Given the description of an element on the screen output the (x, y) to click on. 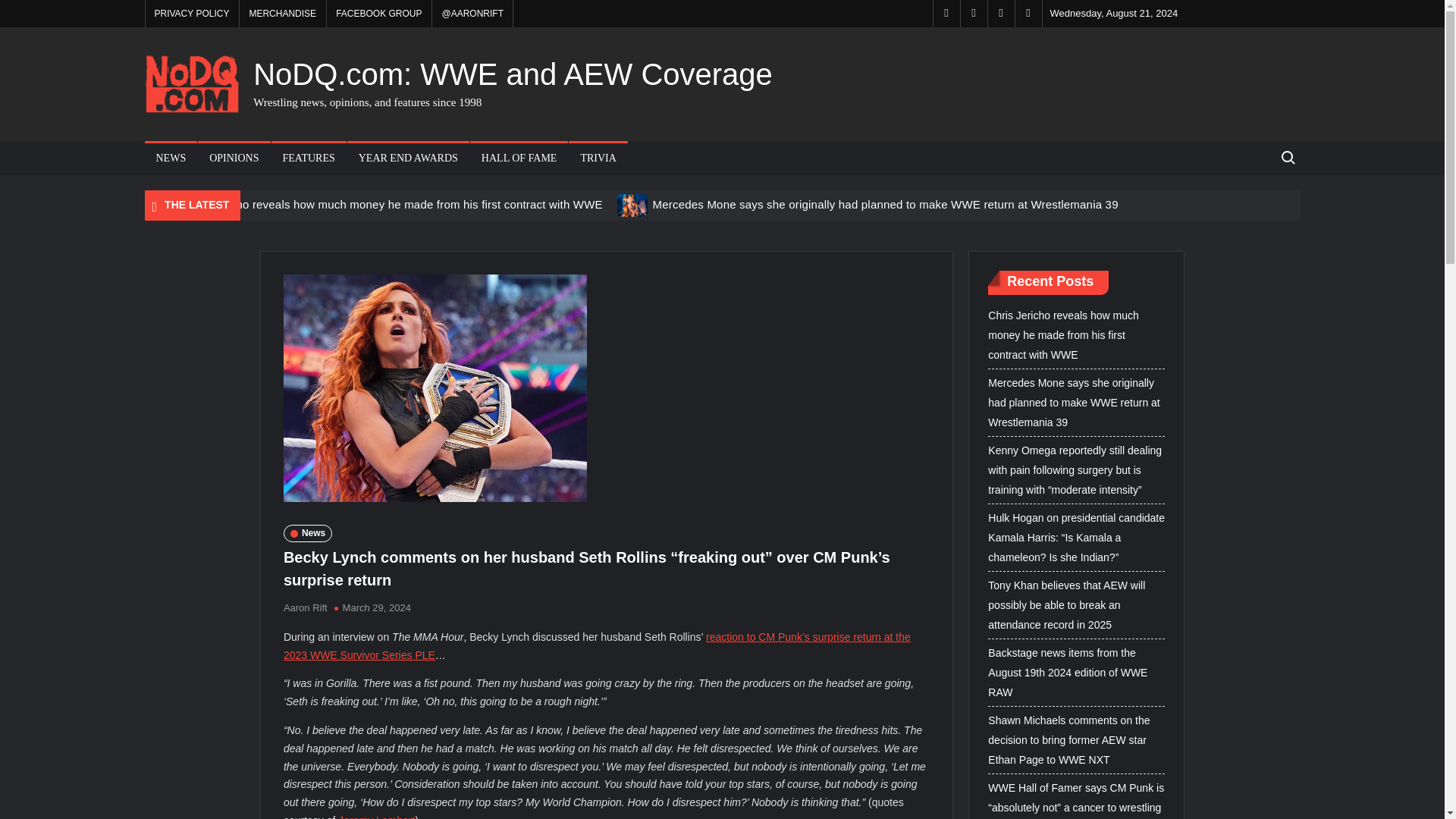
NoDQ.com: WWE and AEW Coverage (513, 73)
HALL OF FAME (519, 157)
NEWS (170, 157)
OPINIONS (233, 157)
Search for: (1287, 157)
PRIVACY POLICY (191, 13)
